Given the description of an element on the screen output the (x, y) to click on. 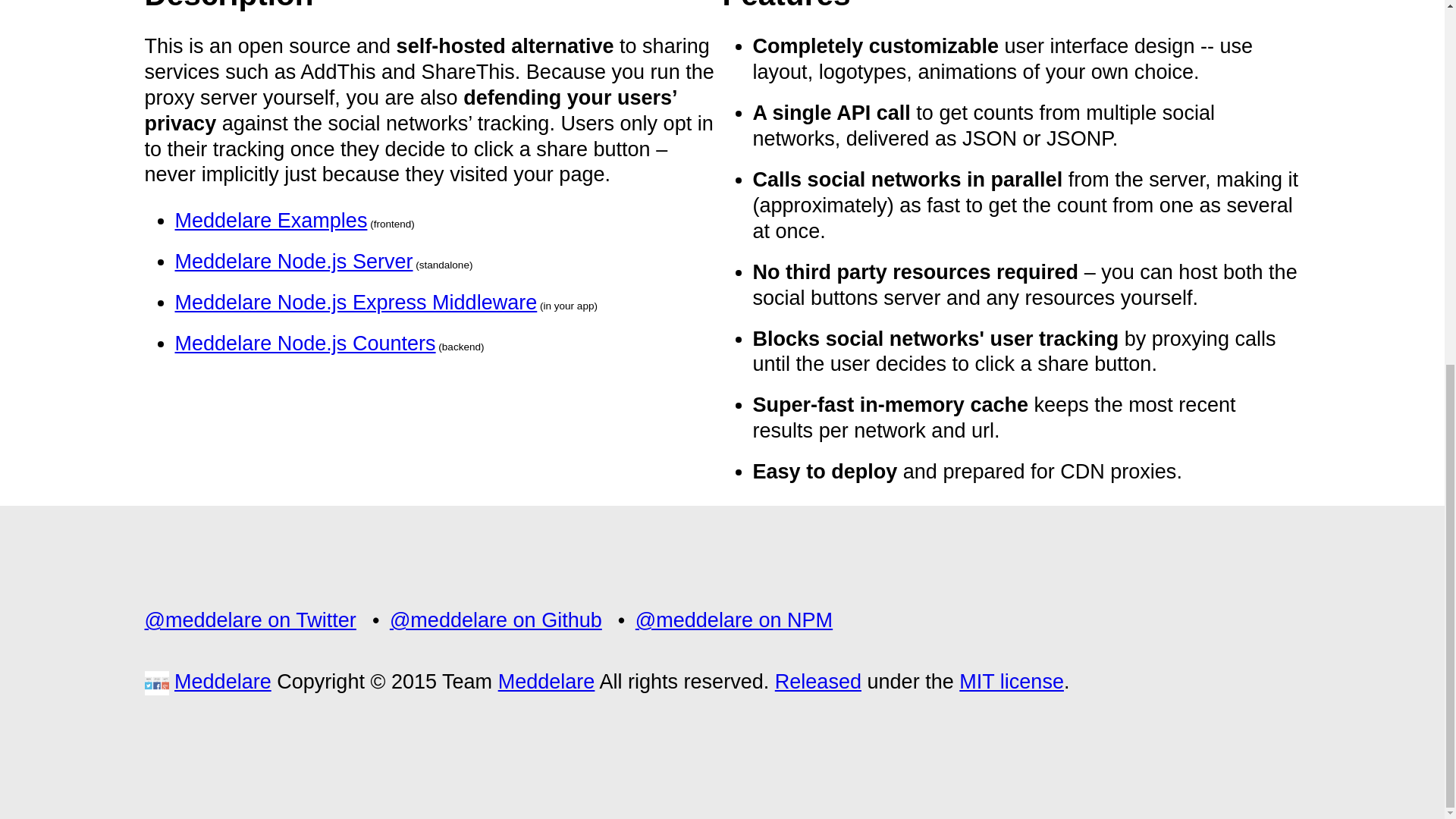
Meddelare Examples (270, 220)
Meddelare Node.js Express Middleware (355, 302)
Meddelare Node.js Counters (304, 343)
Meddelare (546, 681)
Meddelare Node.js Server (293, 261)
Meddelare (222, 681)
Released (817, 681)
MIT license (1011, 681)
